Given the description of an element on the screen output the (x, y) to click on. 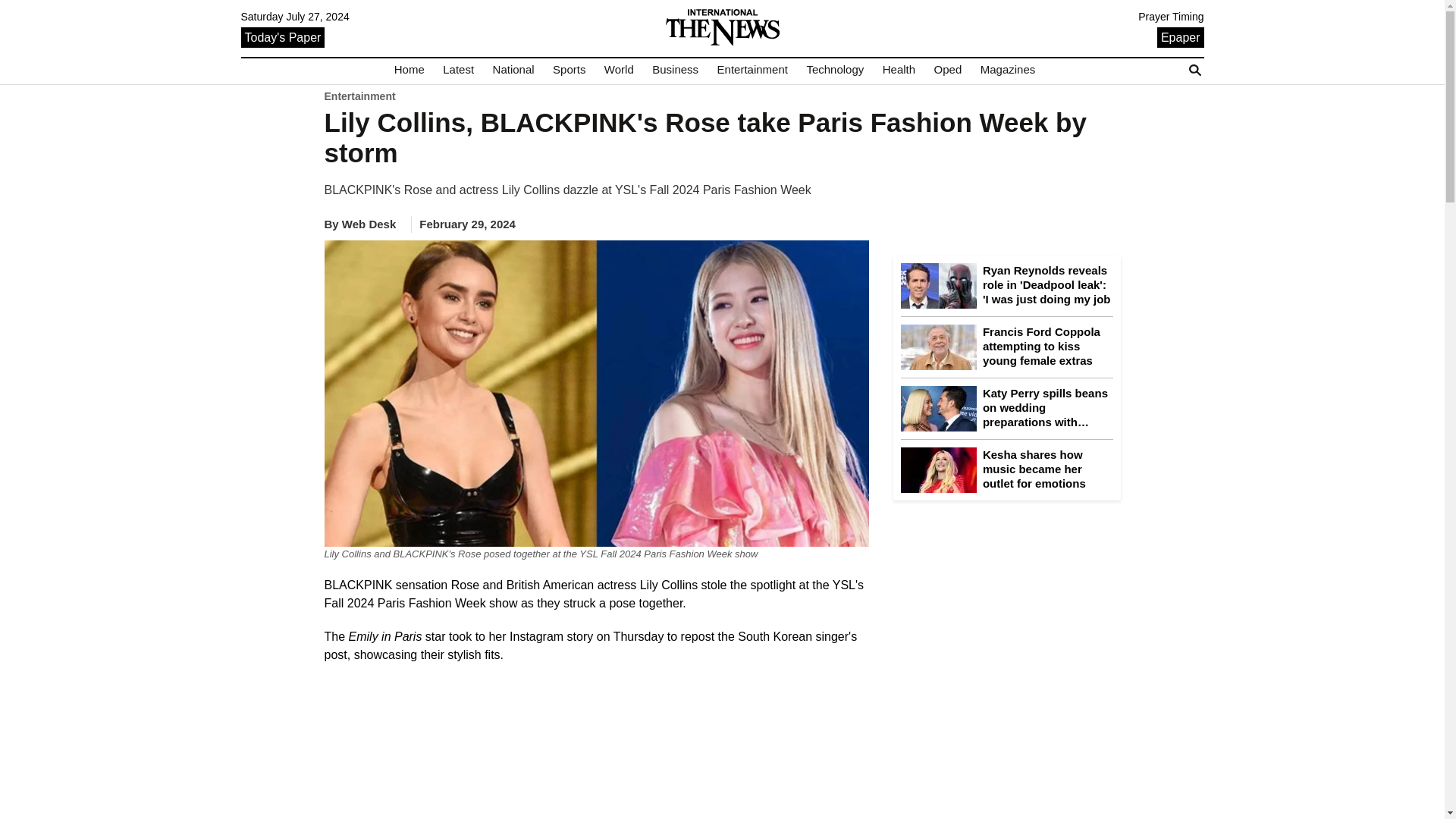
Epaper (1180, 37)
Technology (833, 69)
Latest (458, 69)
Sports (568, 69)
Business (675, 69)
Home (409, 69)
World (619, 69)
Today's Paper (282, 37)
National (512, 69)
Health (899, 69)
Entertainment (752, 69)
Prayer Timing (1171, 16)
